Given the description of an element on the screen output the (x, y) to click on. 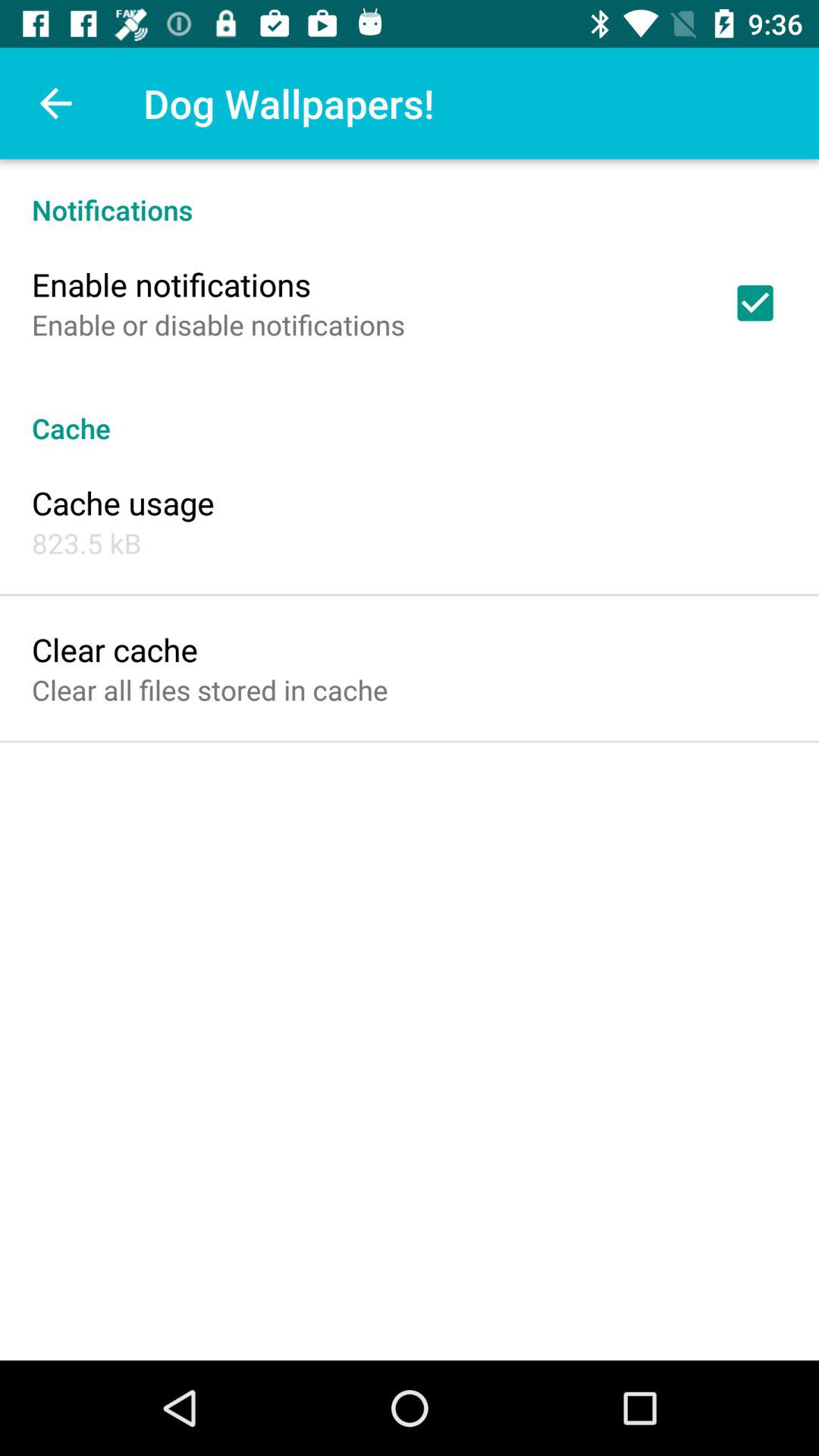
press enable or disable item (217, 324)
